Given the description of an element on the screen output the (x, y) to click on. 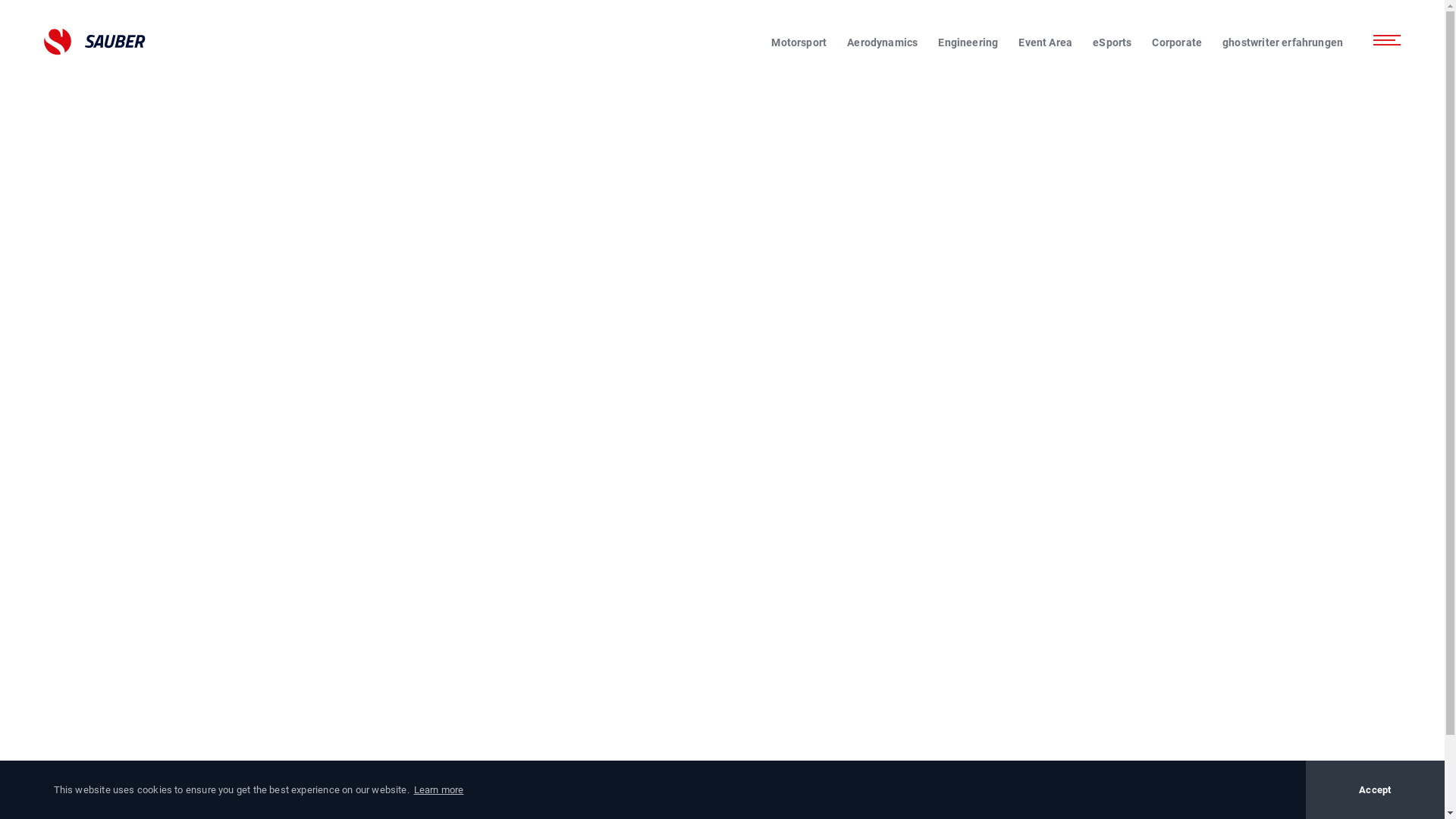
eSports Element type: text (1111, 42)
Event Area Element type: text (1045, 42)
Corporate Element type: text (1176, 42)
Aerodynamics Element type: text (882, 42)
Learn more Element type: text (438, 789)
Engineering Element type: text (967, 42)
ghostwriter erfahrungen Element type: text (1282, 42)
Motorsport Element type: text (798, 42)
